Given the description of an element on the screen output the (x, y) to click on. 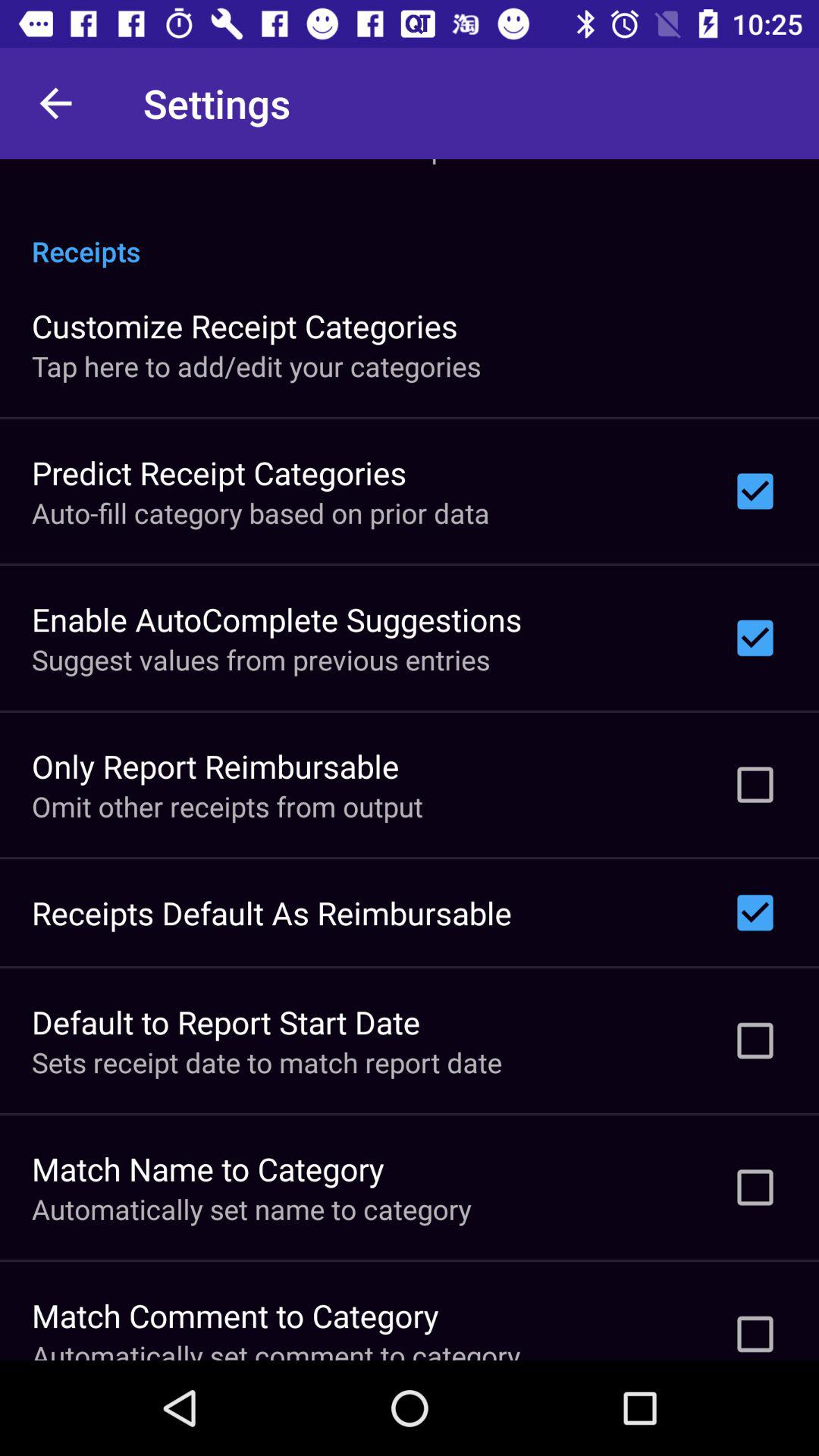
turn on icon above enable autocomplete suggestions item (260, 512)
